Given the description of an element on the screen output the (x, y) to click on. 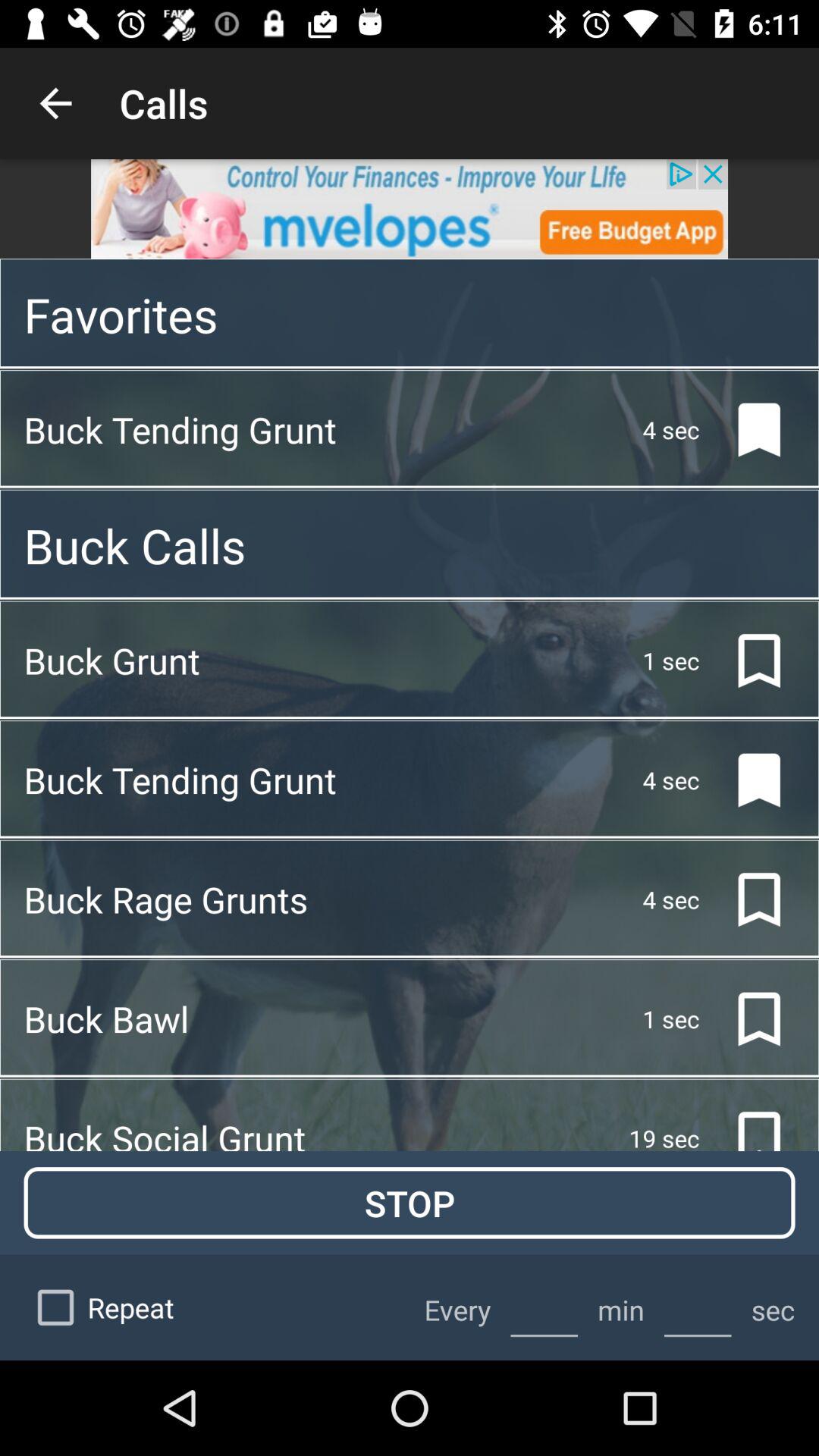
every (543, 1307)
